Given the description of an element on the screen output the (x, y) to click on. 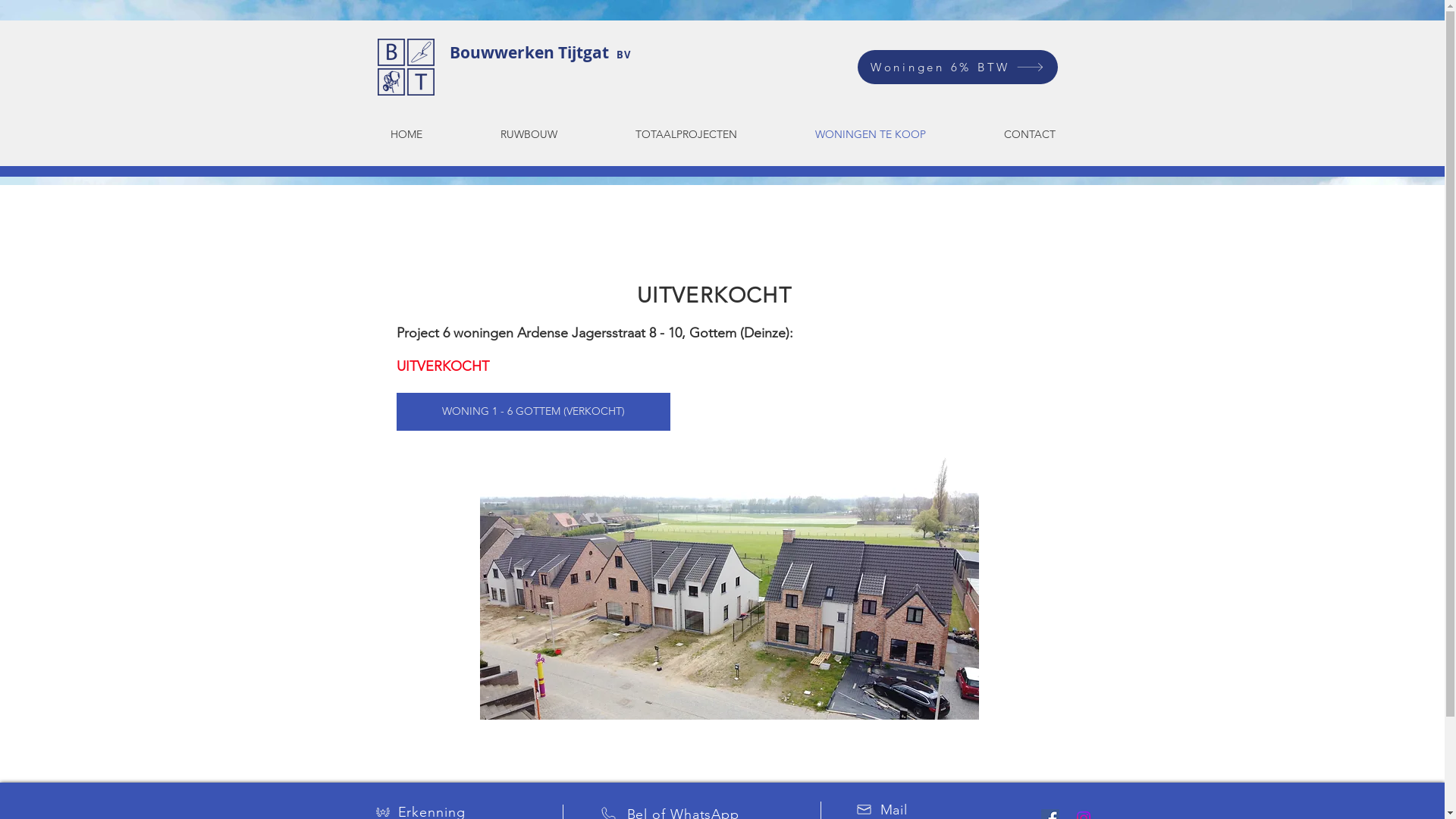
Bouwwerken Tijtgat   Element type: text (531, 52)
WONINGEN TE KOOP Element type: text (870, 134)
WONING 1 - 6 GOTTEM (VERKOCHT) Element type: text (532, 411)
HOME Element type: text (405, 134)
RUWBOUW Element type: text (528, 134)
CONTACT Element type: text (1029, 134)
Woningen 6% BTW Element type: text (956, 67)
TOTAALPROJECTEN Element type: text (685, 134)
